Given the description of an element on the screen output the (x, y) to click on. 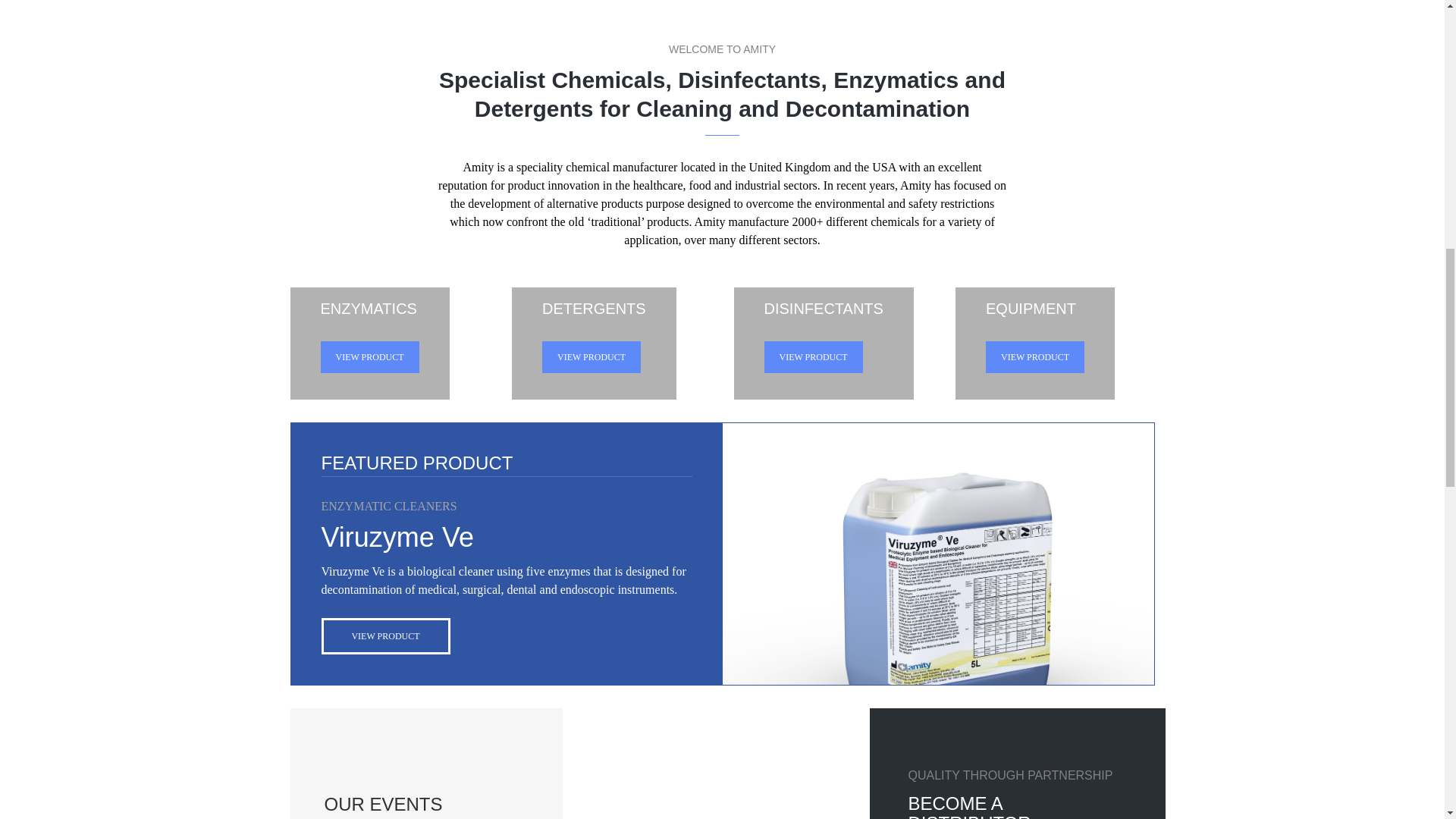
VIEW PRODUCT (369, 357)
VIEW PRODUCT (590, 357)
VIEW PRODUCT (1034, 357)
VIEW PRODUCT (385, 636)
VIEW PRODUCT (813, 357)
